Given the description of an element on the screen output the (x, y) to click on. 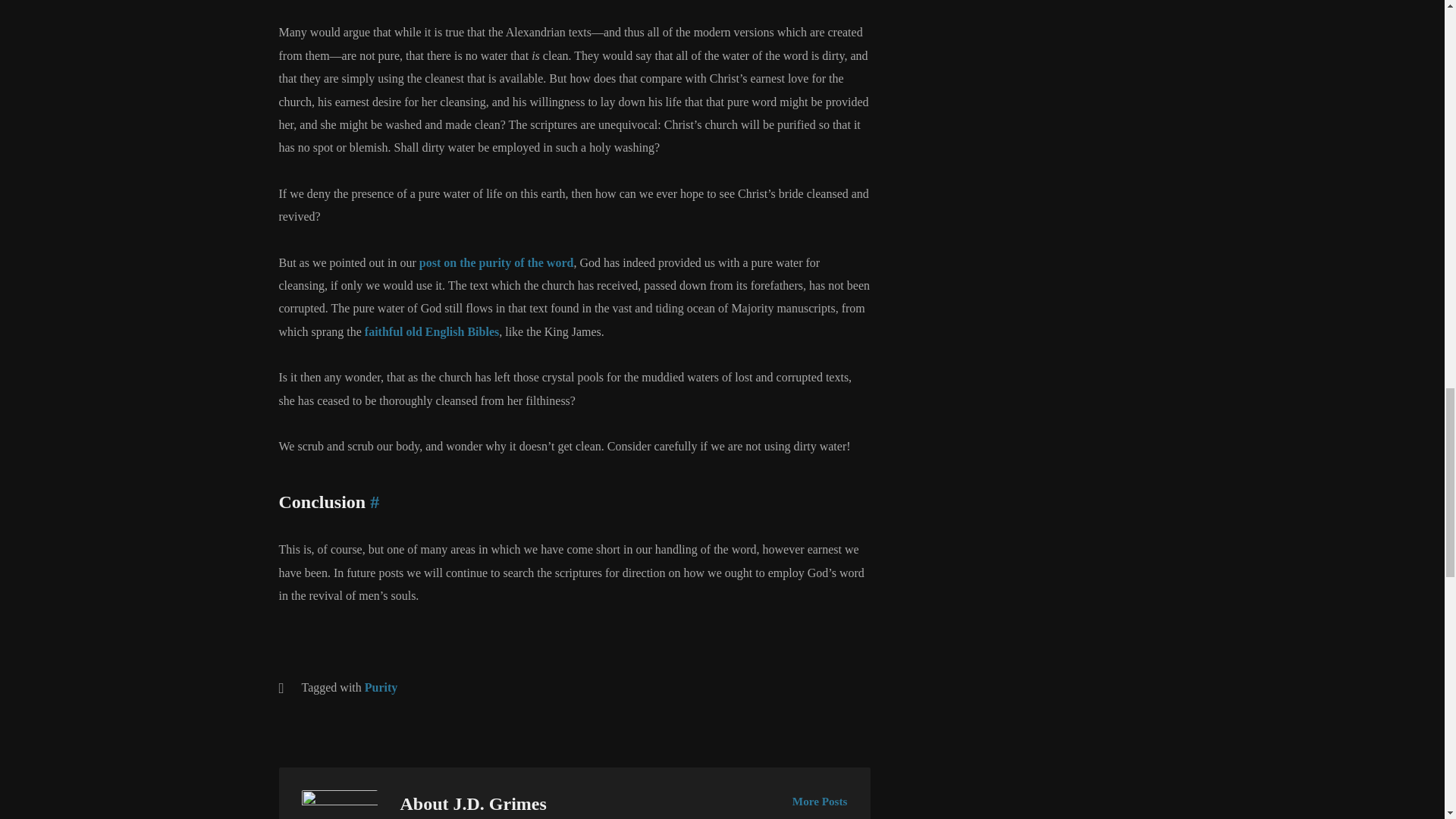
Purity (381, 686)
More Posts (819, 800)
post on the purity of the word (496, 262)
faithful old English Bibles (432, 331)
